Given the description of an element on the screen output the (x, y) to click on. 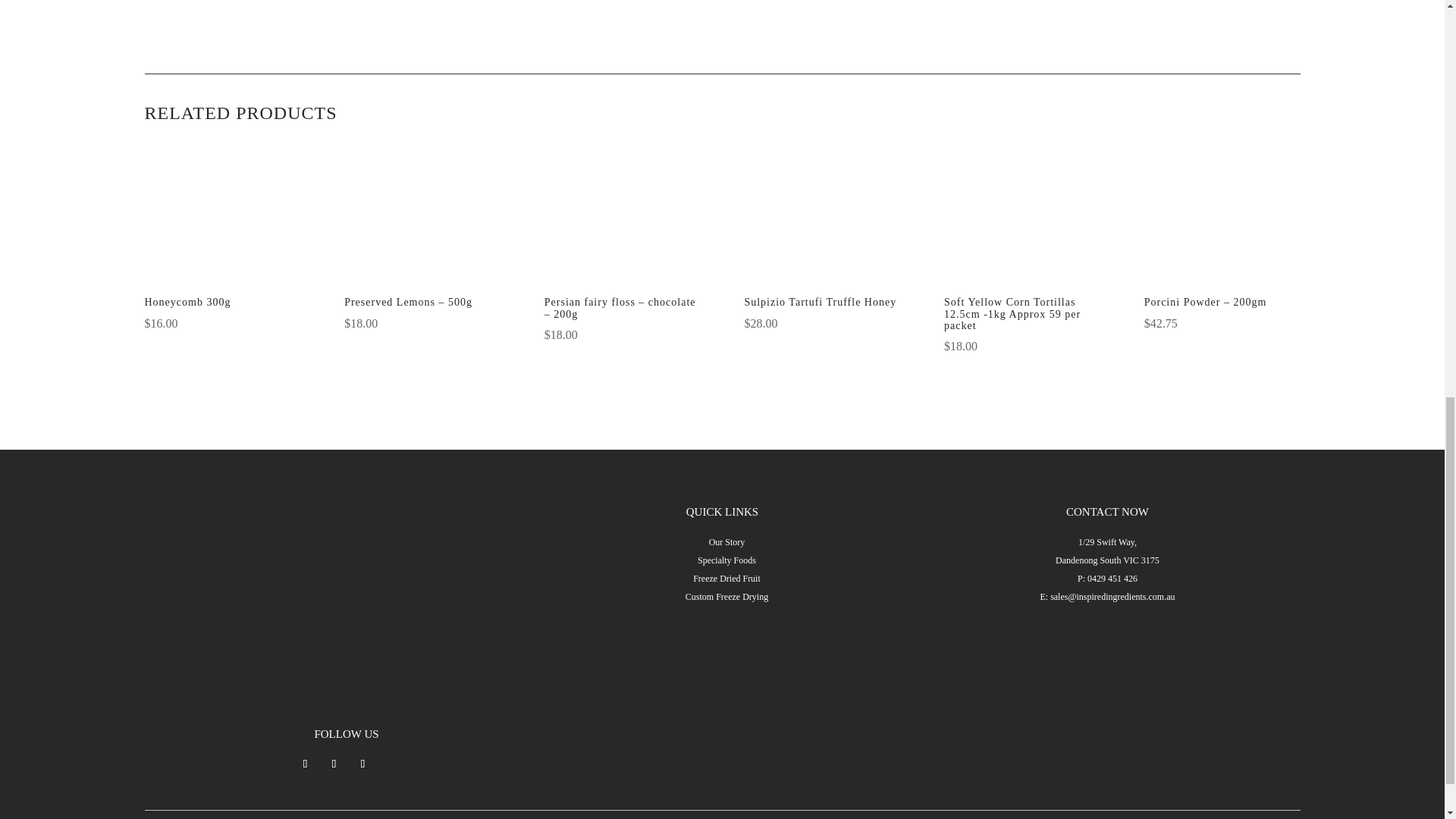
Follow on Facebook (304, 763)
Our Story (727, 542)
Custom Freeze Drying (726, 596)
Follow on Instagram (333, 763)
Specialty Foods (726, 560)
Follow on LinkedIn (362, 763)
Freeze Dried Fruit (726, 578)
0429 451 426 (1112, 578)
